Given the description of an element on the screen output the (x, y) to click on. 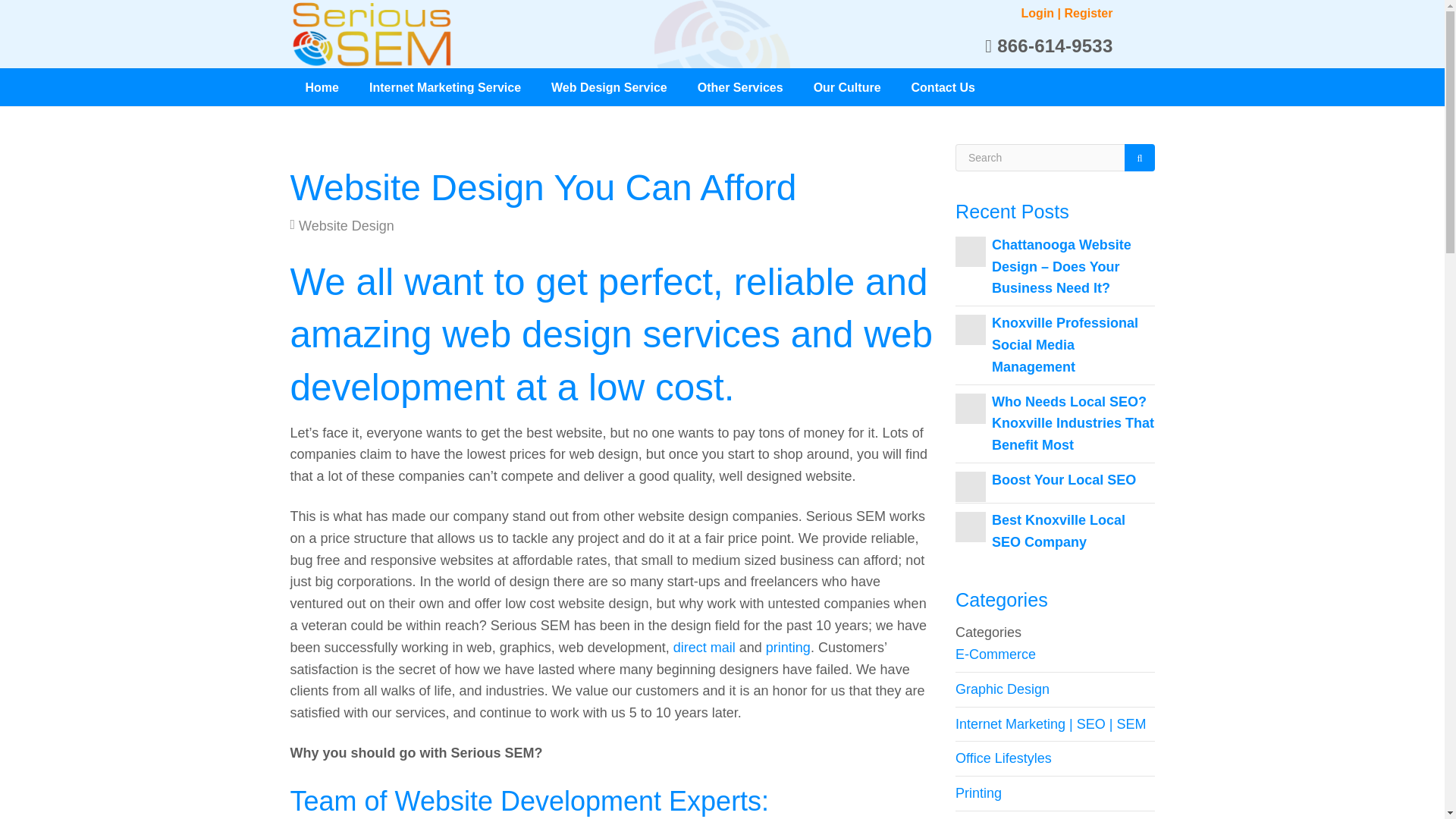
printing (787, 647)
Who Needs Local SEO? Knoxville Industries That Benefit Most (1072, 423)
Internet Marketing Service (444, 86)
Best Knoxville Local SEO Company (1058, 530)
Search (1139, 157)
Website Design (346, 225)
Other Services (739, 86)
postcard direct mail marketing (703, 647)
Web Design Service (608, 86)
direct mail (703, 647)
Contact Us (943, 86)
printing print services and postcards (787, 647)
website design, custom website design (528, 800)
Team of Website Development Experts: (528, 800)
Knoxville Professional Social Media Management (1064, 344)
